Given the description of an element on the screen output the (x, y) to click on. 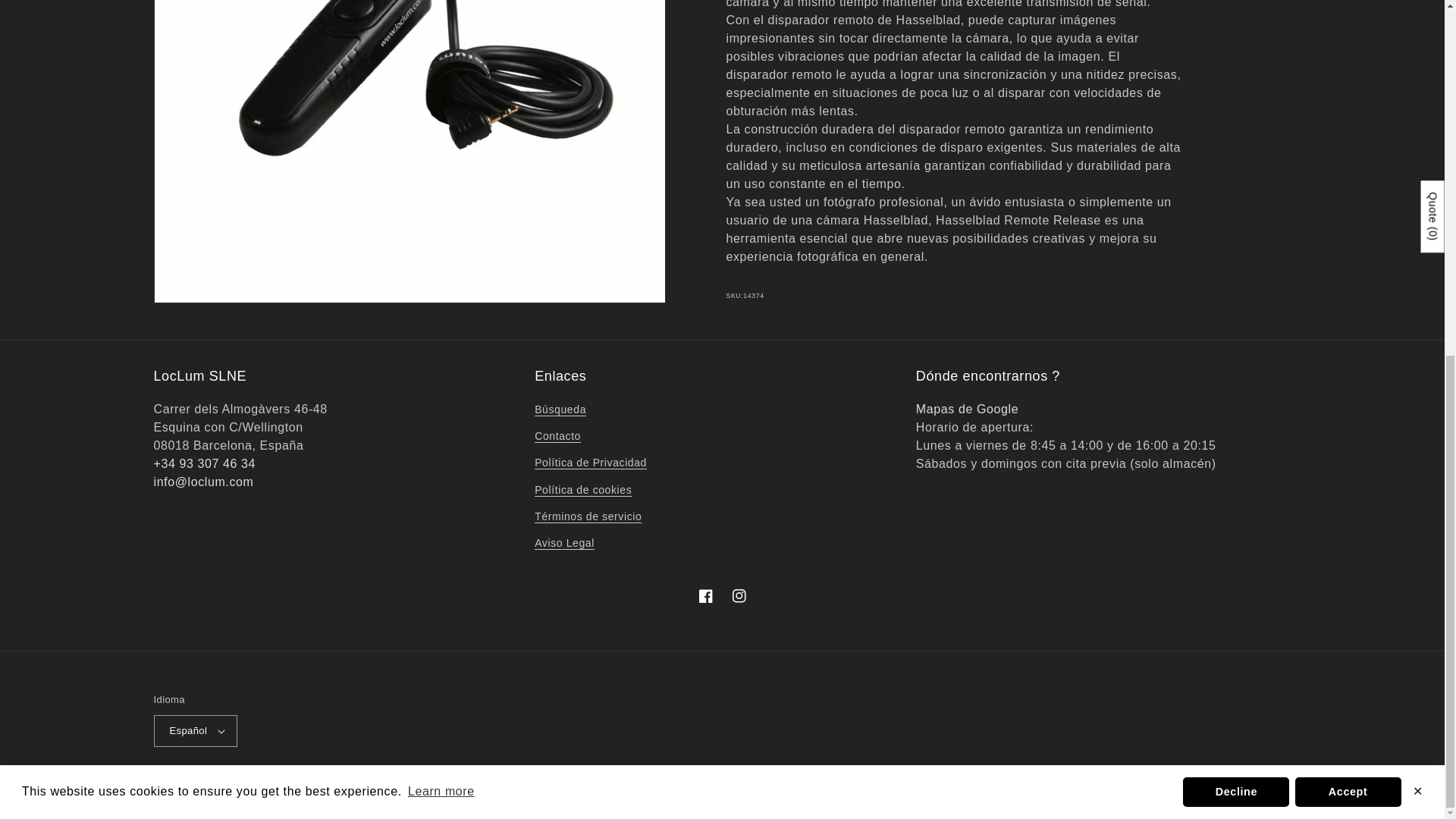
Learn more (441, 168)
Accept (1347, 168)
Decline (1235, 168)
mapa de Google (966, 408)
